Given the description of an element on the screen output the (x, y) to click on. 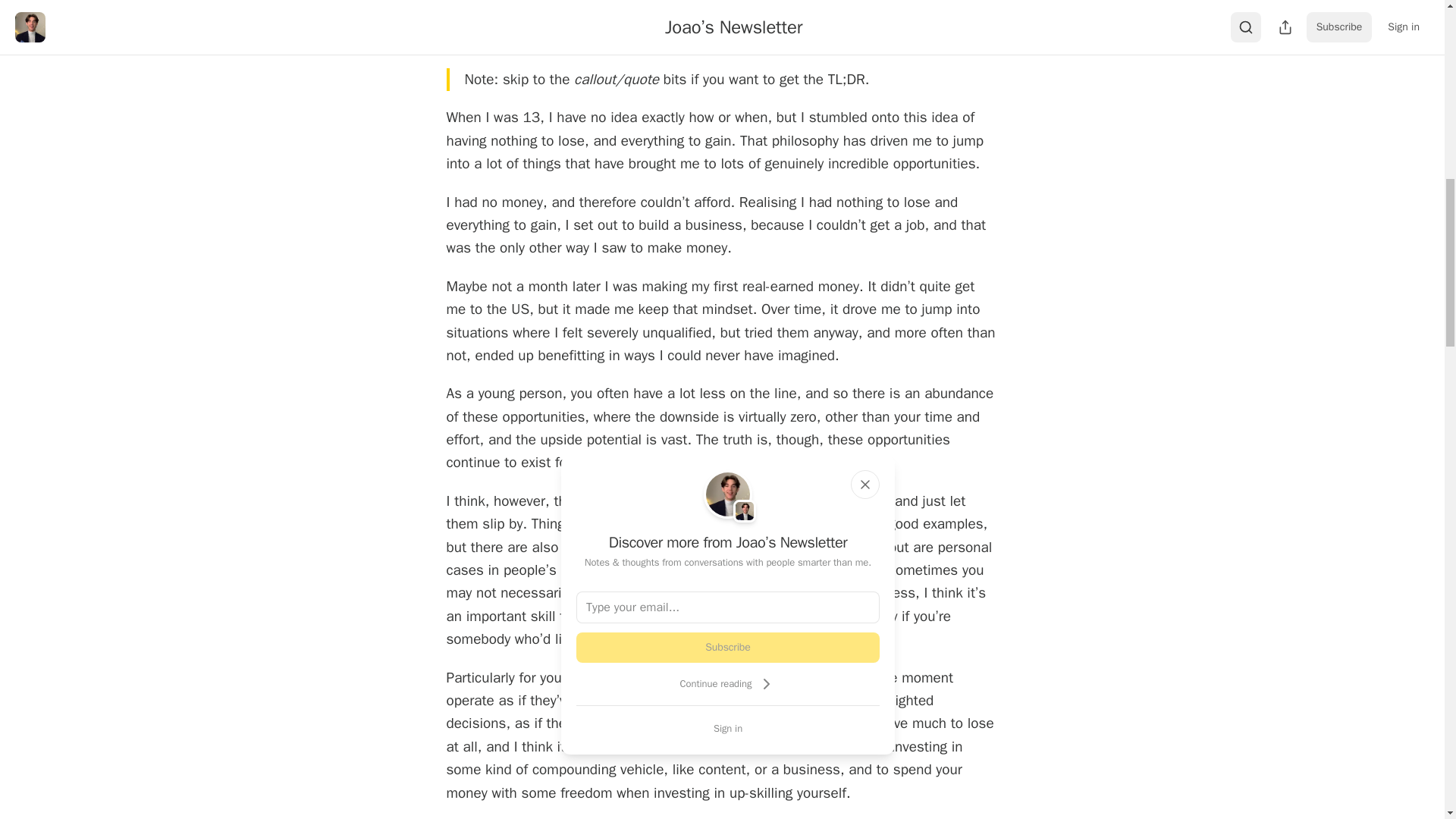
Sign in (727, 727)
Subscribe (727, 647)
